Given the description of an element on the screen output the (x, y) to click on. 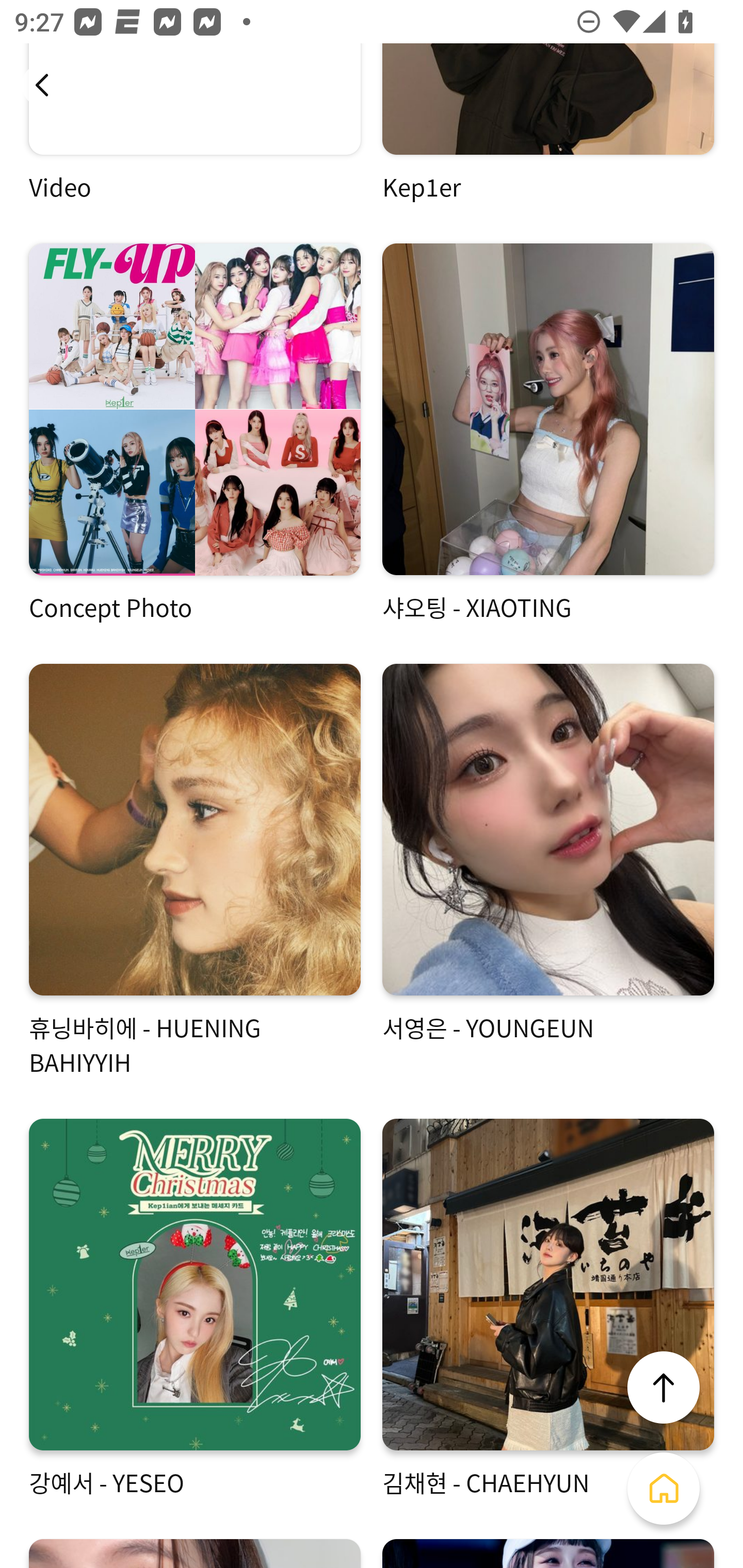
Video (194, 123)
Concept  Photo (194, 433)
샤오팅  -  XIAOTING (548, 433)
휴닝바히에  -  HUENING  BAHIYYIH (194, 870)
서영은  -  YOUNGEUN (548, 870)
강예서  -  YESEO (194, 1308)
김채현  -  CHAEHYUN (548, 1308)
